Given the description of an element on the screen output the (x, y) to click on. 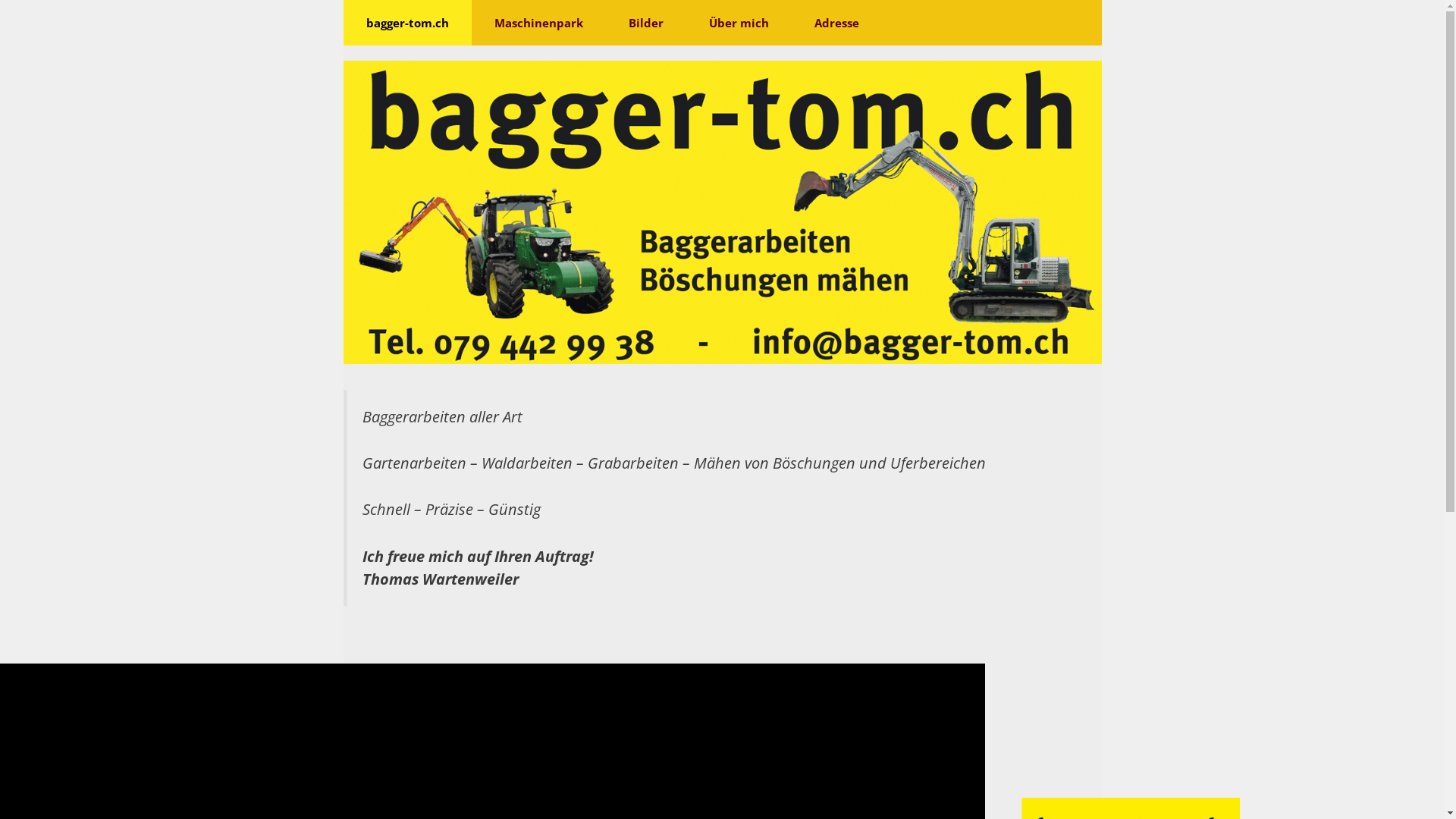
Adresse Element type: text (836, 22)
bagger-tom.ch Element type: text (406, 22)
Bilder Element type: text (645, 22)
Maschinenpark Element type: text (538, 22)
